Given the description of an element on the screen output the (x, y) to click on. 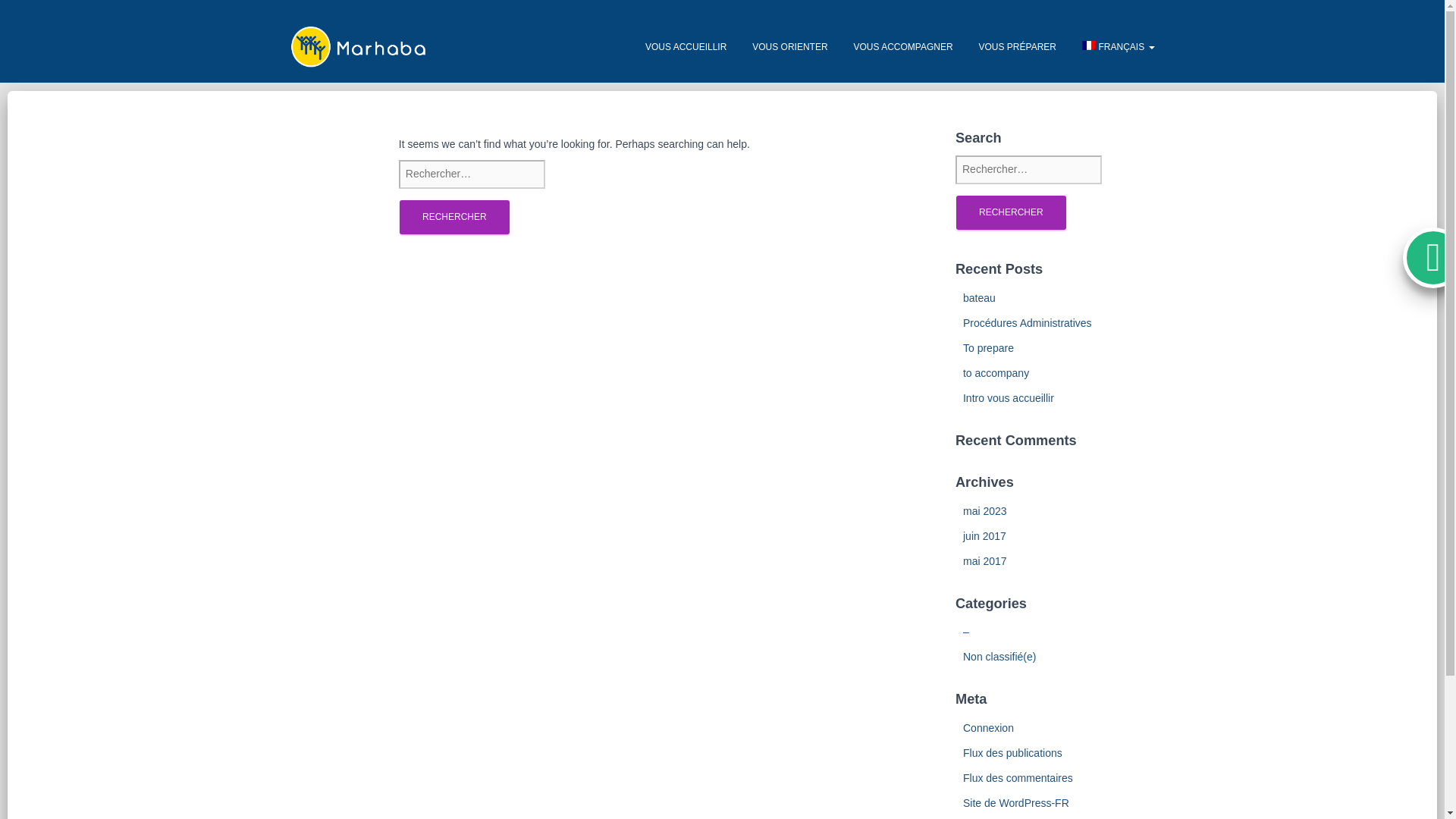
Connexion (987, 727)
VOUS ACCUEILLIR (685, 46)
Vous orienter (789, 46)
Site de WordPress-FR (1015, 802)
Rechercher (1010, 212)
Rechercher (453, 216)
juin 2017 (984, 535)
Intro vous accueillir (1008, 398)
mai 2017 (984, 561)
Rechercher (453, 216)
